Given the description of an element on the screen output the (x, y) to click on. 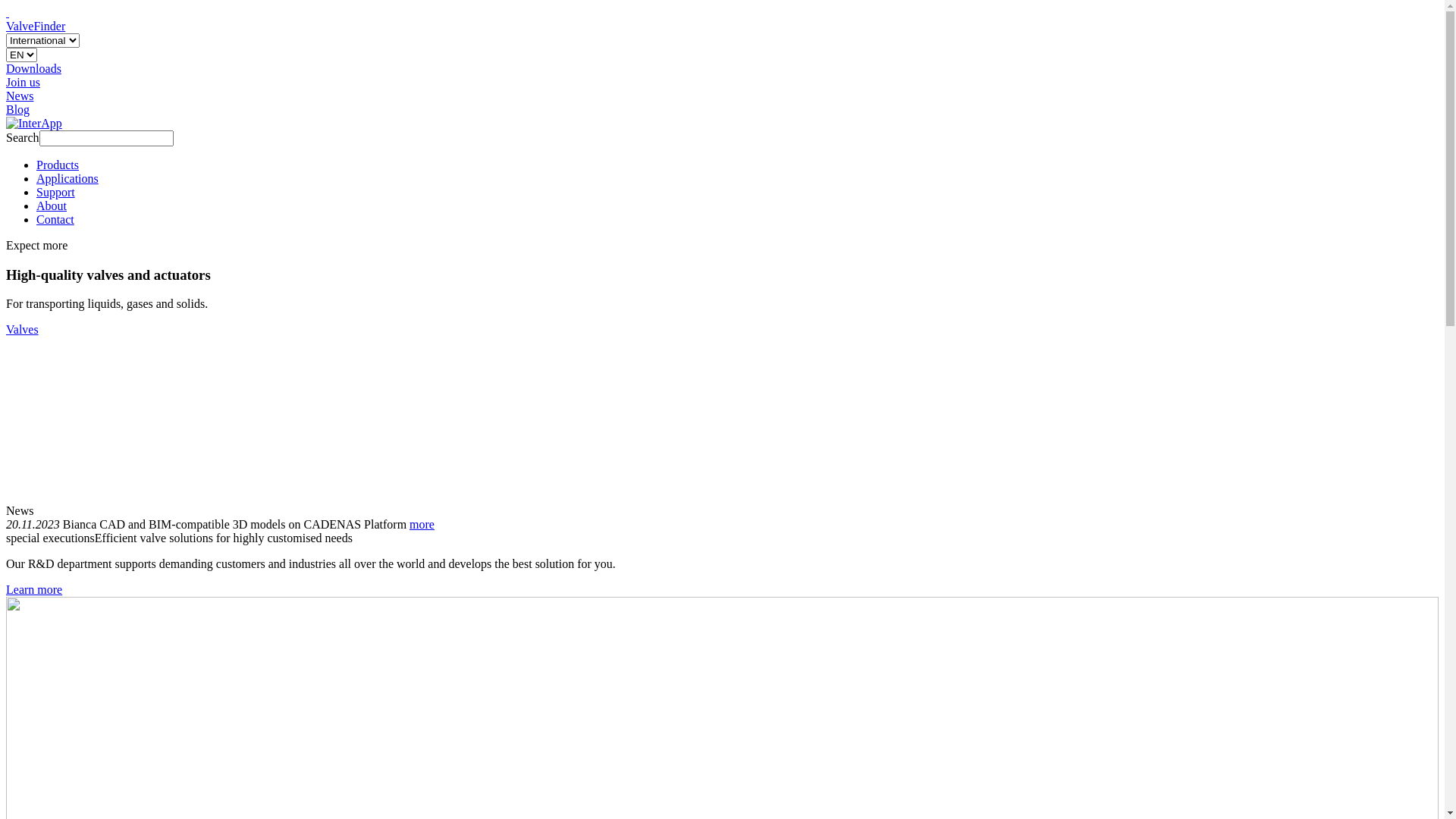
Learn more Element type: text (34, 589)
Join us Element type: text (23, 81)
ValveFinder Element type: text (35, 25)
more Element type: text (421, 523)
Applications Element type: text (67, 178)
Shop Element type: hover (7, 12)
Contact Element type: text (55, 219)
InterApp Element type: hover (34, 123)
Products Element type: text (57, 164)
Blog Element type: text (17, 109)
Valves Element type: text (22, 329)
About Element type: text (51, 205)
  Element type: text (7, 12)
Downloads Element type: text (33, 68)
Support Element type: text (55, 191)
News Element type: text (19, 95)
